Given the description of an element on the screen output the (x, y) to click on. 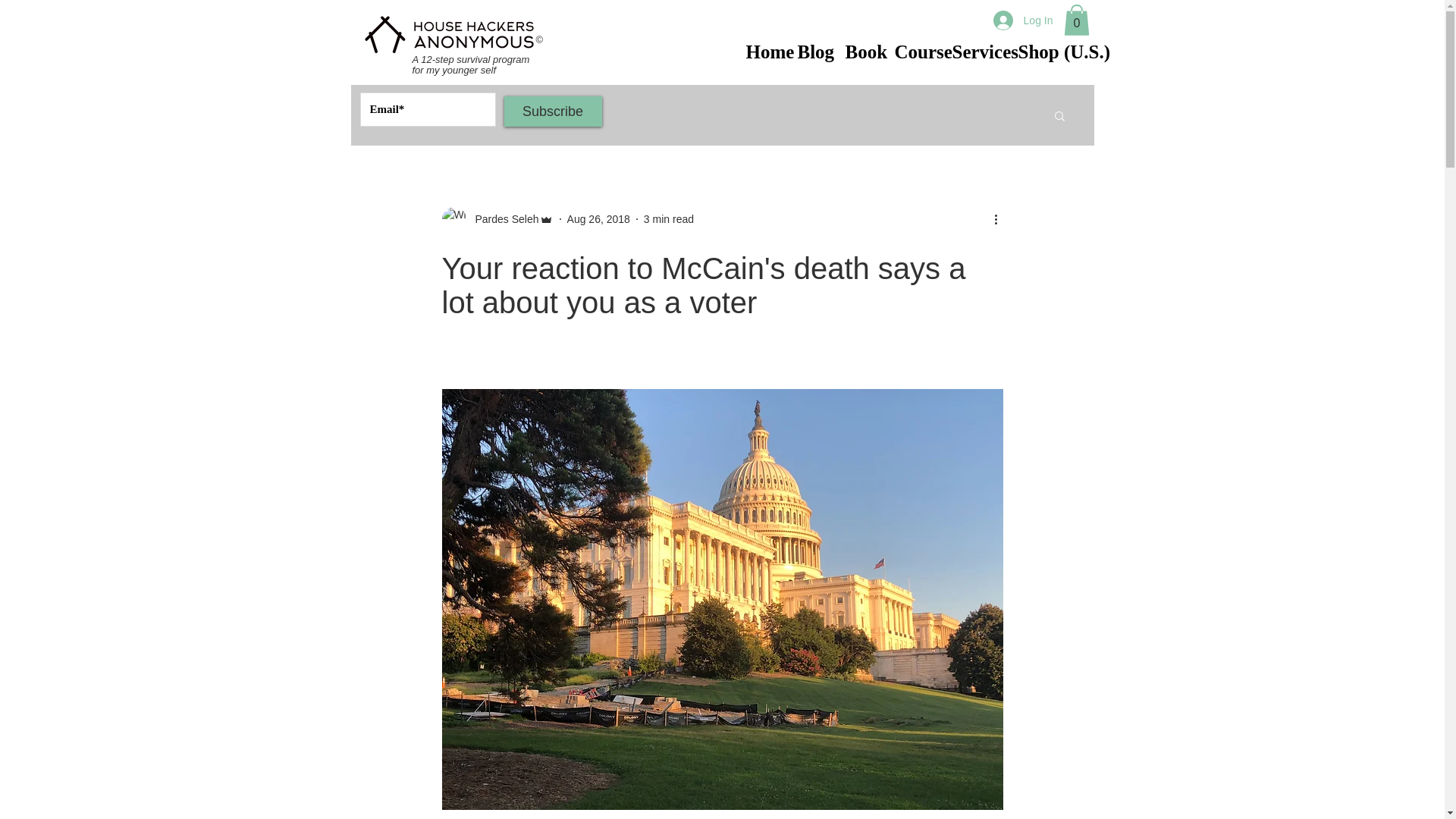
Pardes Seleh (497, 218)
Book (858, 47)
Blog (809, 47)
Aug 26, 2018 (598, 218)
Services (973, 47)
3 min read (668, 218)
Home (759, 47)
Embedded Content (648, 39)
Log In (1023, 20)
0 (1075, 20)
Pardes Seleh (501, 219)
Course (911, 47)
0 (1075, 19)
